Given the description of an element on the screen output the (x, y) to click on. 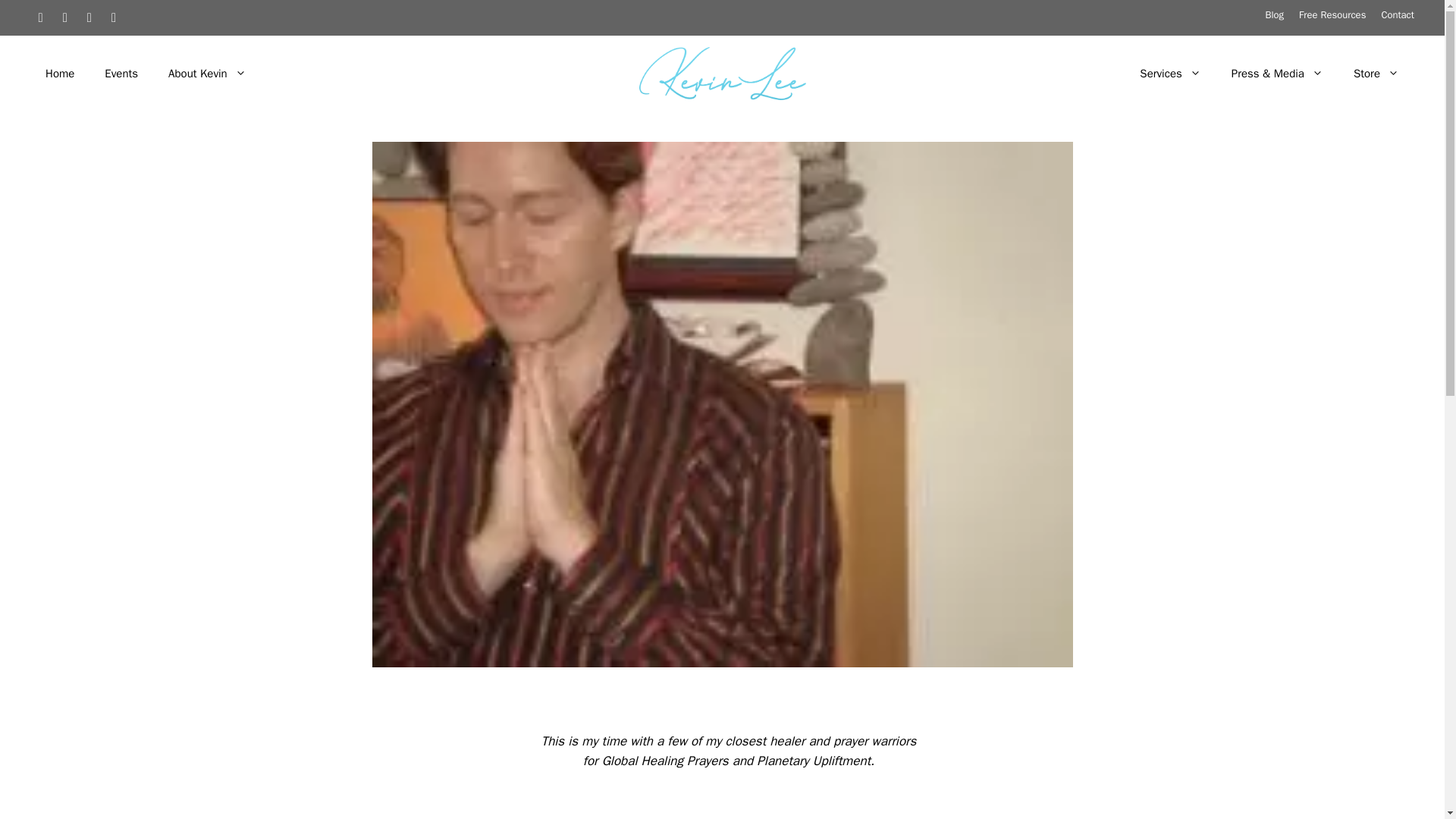
Store (1375, 73)
About Kevin (207, 73)
Services (1169, 73)
Contact (1396, 14)
Home (59, 73)
Events (120, 73)
Blog (1274, 14)
Menu Item Separator (693, 73)
Free Resources (1331, 14)
